Given the description of an element on the screen output the (x, y) to click on. 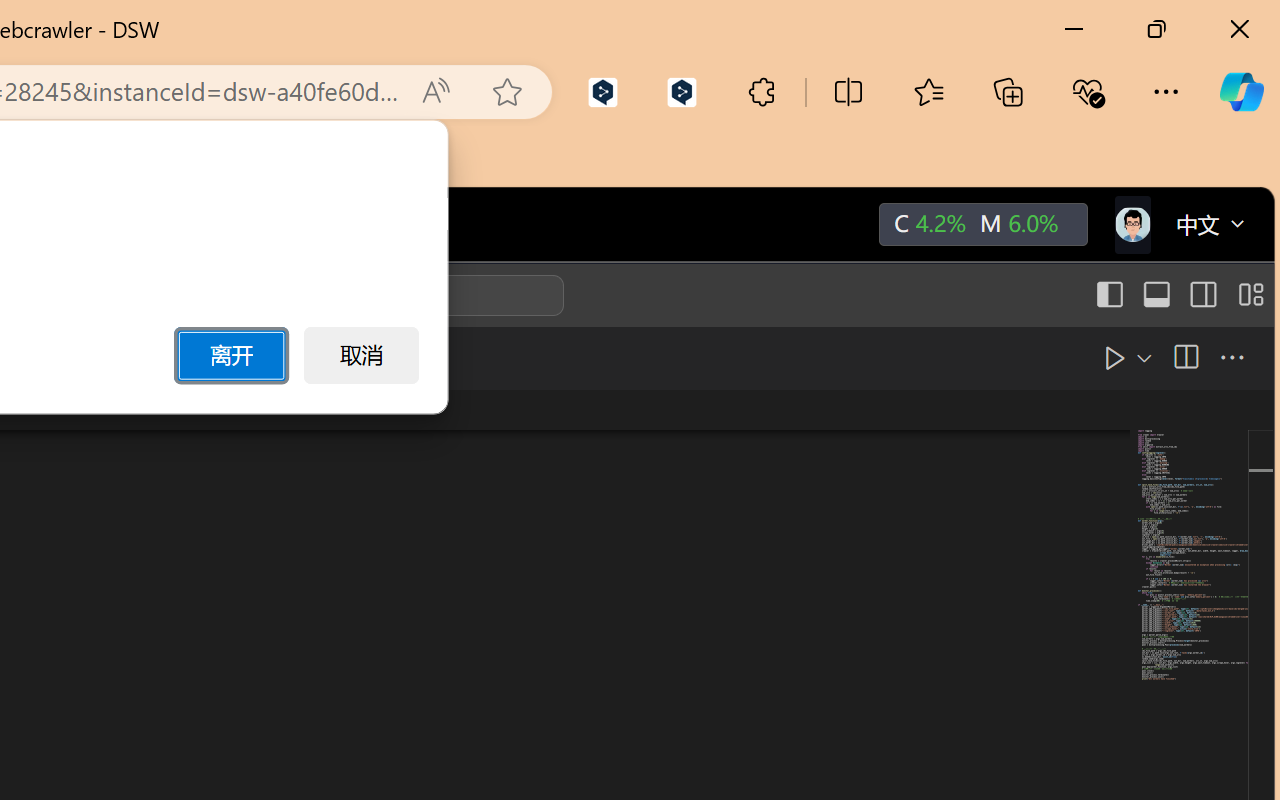
Title actions (1178, 295)
Editor actions (1153, 358)
Class: next-menu next-hoz widgets--iconMenu--BFkiHRM (1131, 225)
Toggle Primary Side Bar (Ctrl+B) (1108, 295)
Toggle Secondary Side Bar (Ctrl+Alt+B) (1201, 295)
Run Python File (1067, 357)
Split Editor Right (Ctrl+\) [Alt] Split Editor Down (1183, 357)
